Given the description of an element on the screen output the (x, y) to click on. 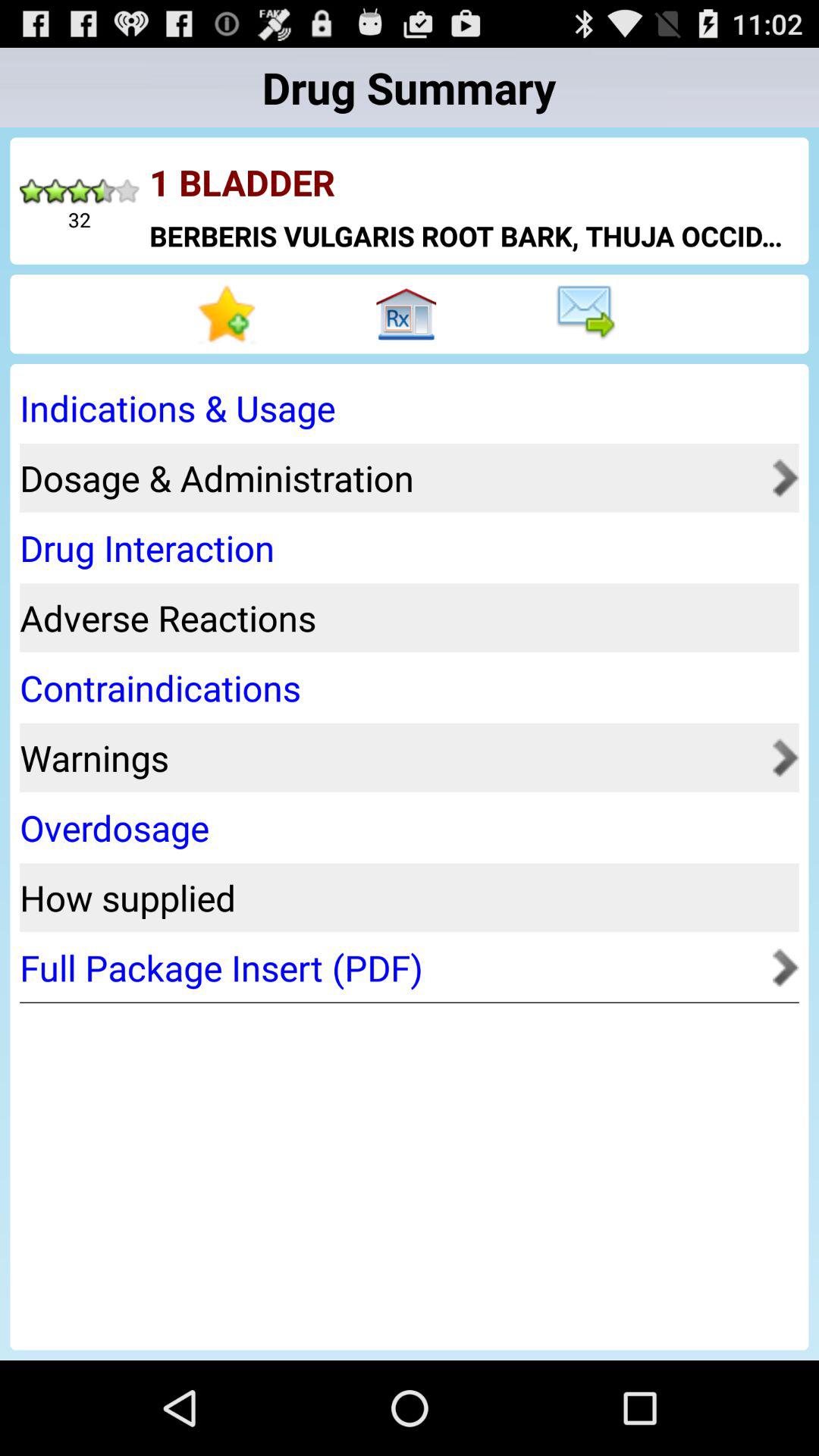
launch the icon below the adverse reactions app (403, 687)
